Given the description of an element on the screen output the (x, y) to click on. 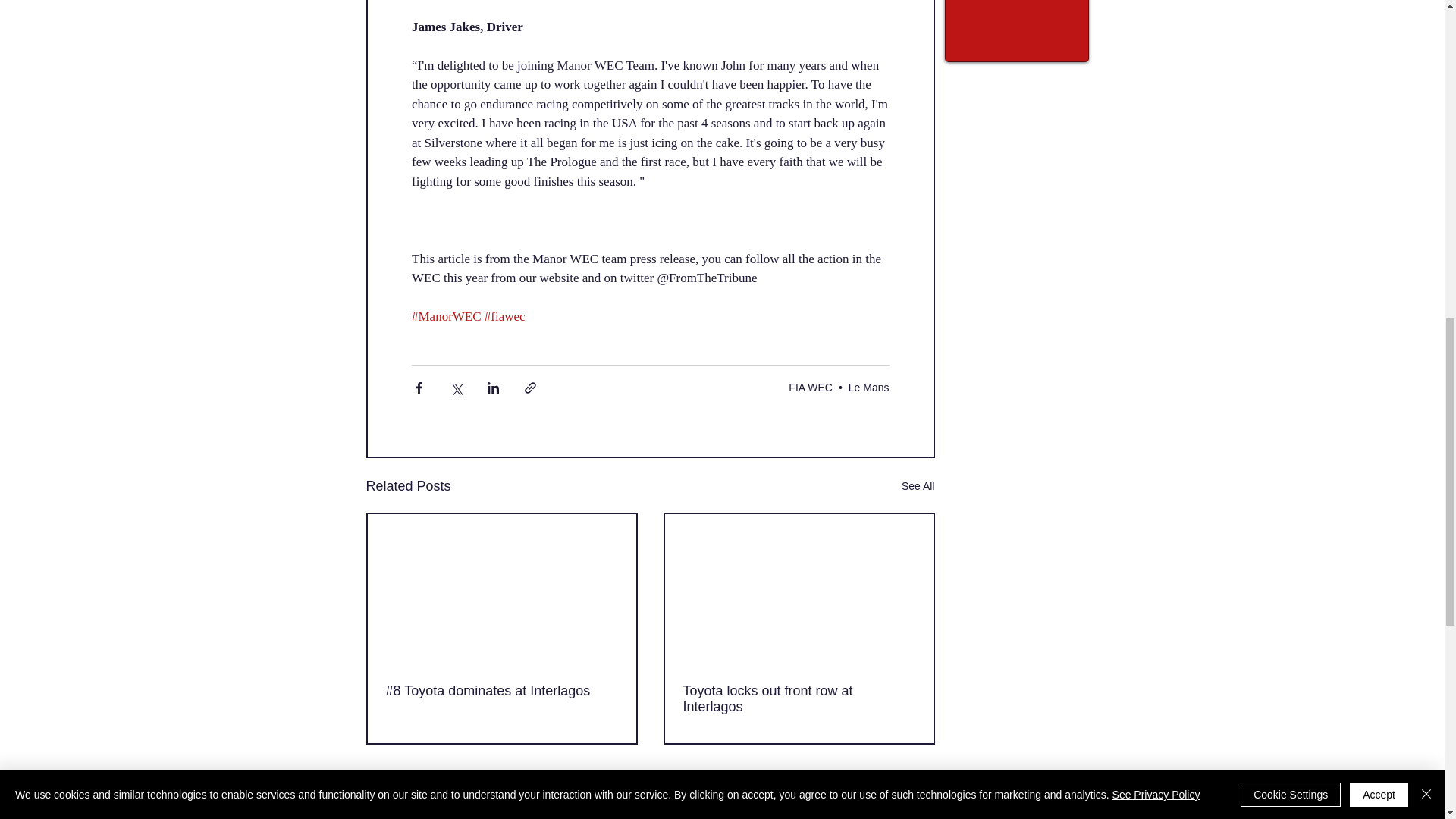
FIA WEC (810, 387)
See All (917, 486)
Le Mans (868, 387)
Toyota locks out front row at Interlagos (798, 698)
